Given the description of an element on the screen output the (x, y) to click on. 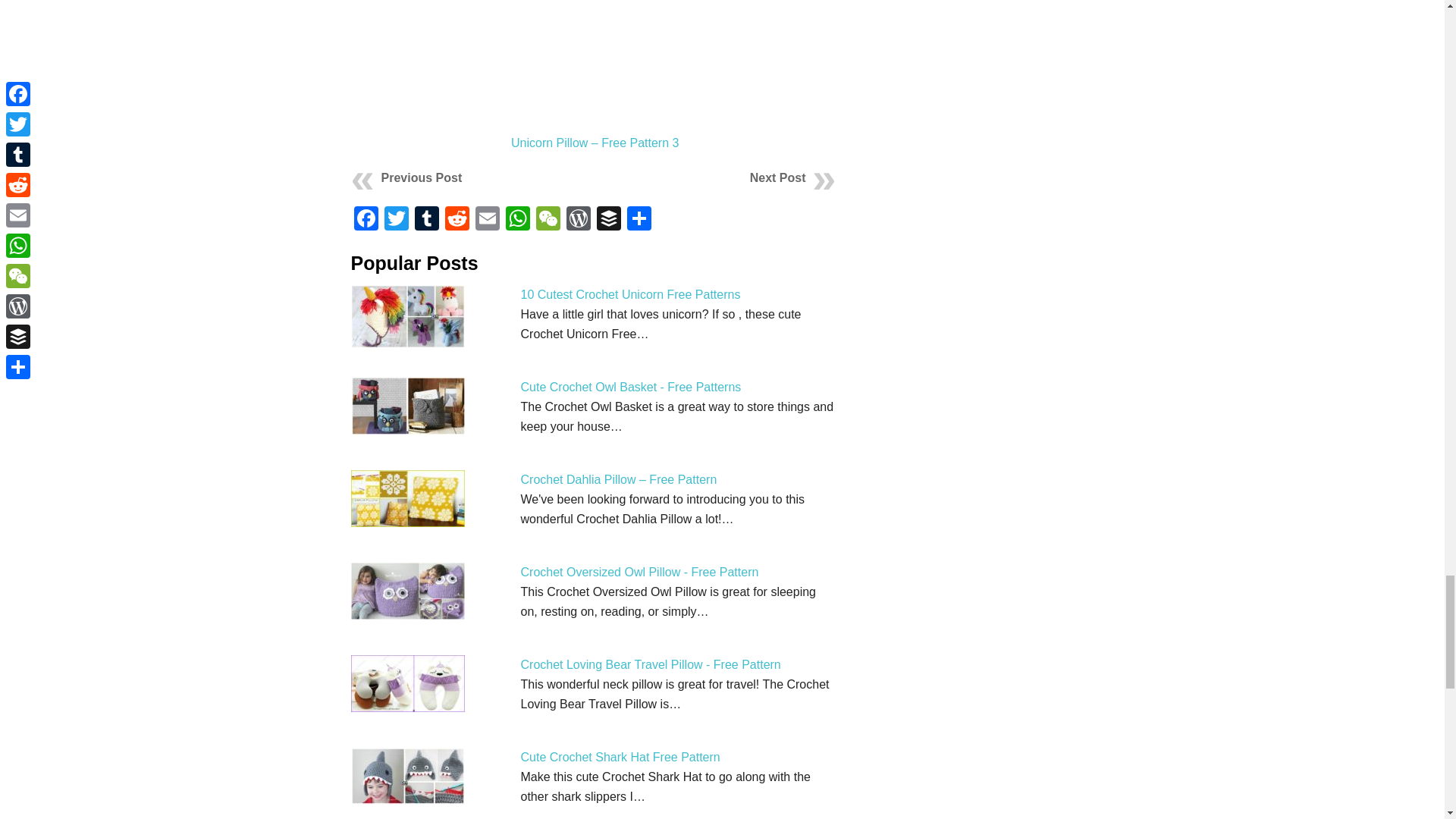
WordPress (577, 220)
Twitter (395, 220)
Facebook (365, 220)
Next Post (777, 177)
Facebook (365, 220)
Buffer (607, 220)
Tumblr (425, 220)
Tumblr (425, 220)
Email (486, 220)
Twitter (395, 220)
